Given the description of an element on the screen output the (x, y) to click on. 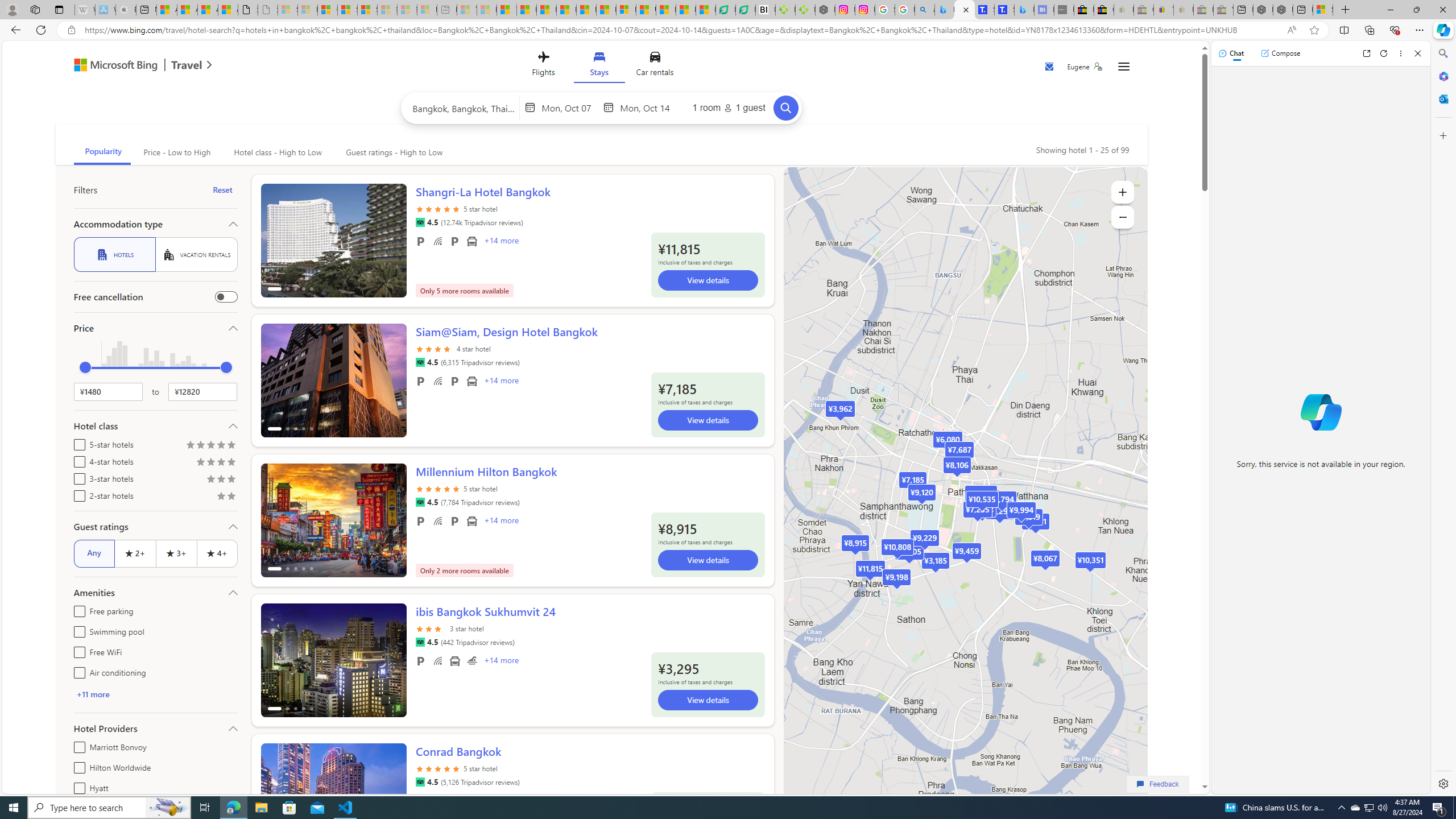
Flights (542, 65)
Any (93, 553)
Save (1049, 67)
Shangri-La Bangkok, Hotel reviews and Room rates (1004, 9)
Chat (1231, 52)
Price (154, 327)
Accommodation type (154, 223)
Marriott Bonvoy (76, 745)
Reset (222, 189)
